Given the description of an element on the screen output the (x, y) to click on. 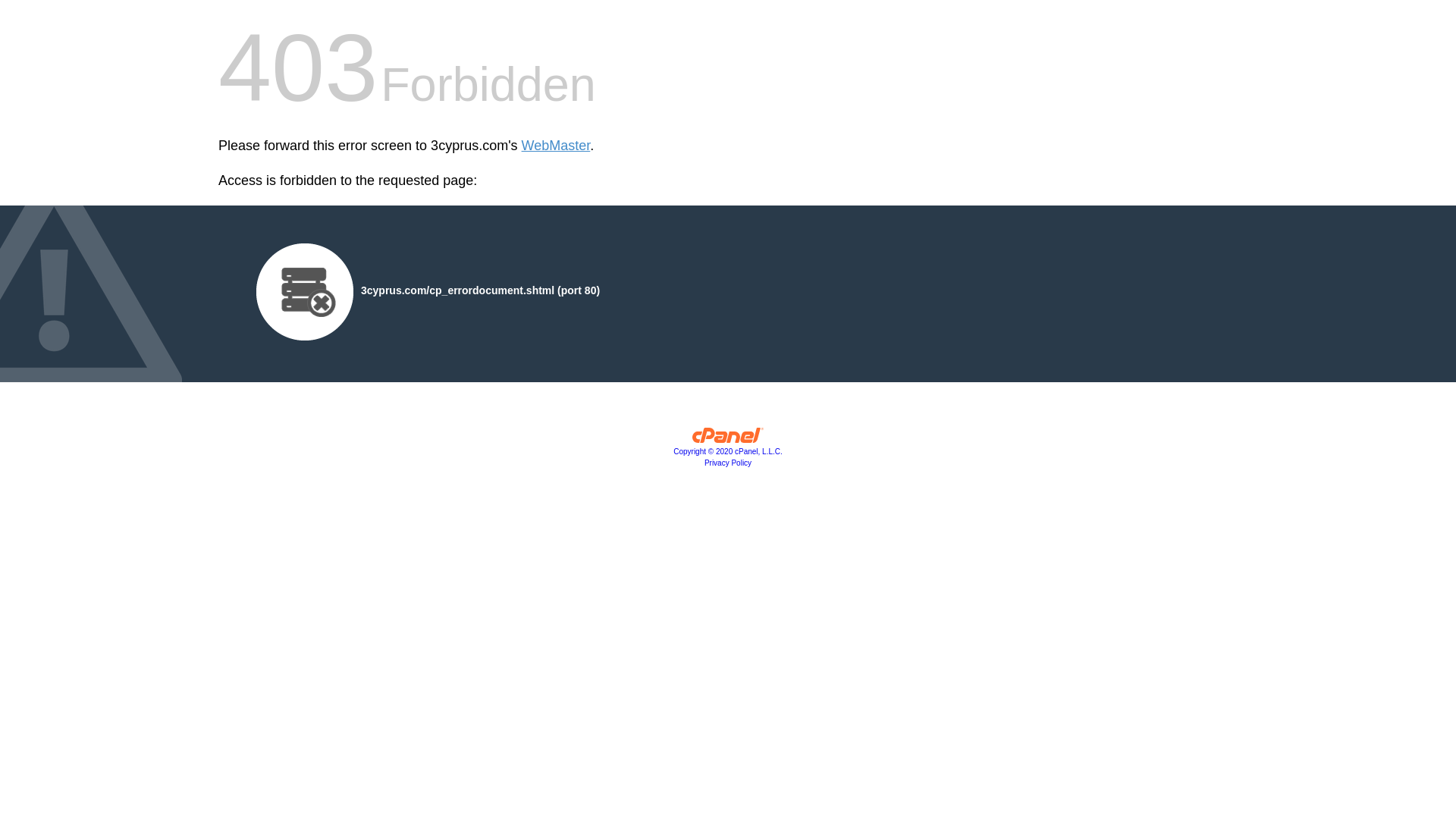
cPanel, Inc. Element type: hover (728, 439)
WebMaster Element type: text (555, 145)
Privacy Policy Element type: text (727, 462)
